Given the description of an element on the screen output the (x, y) to click on. 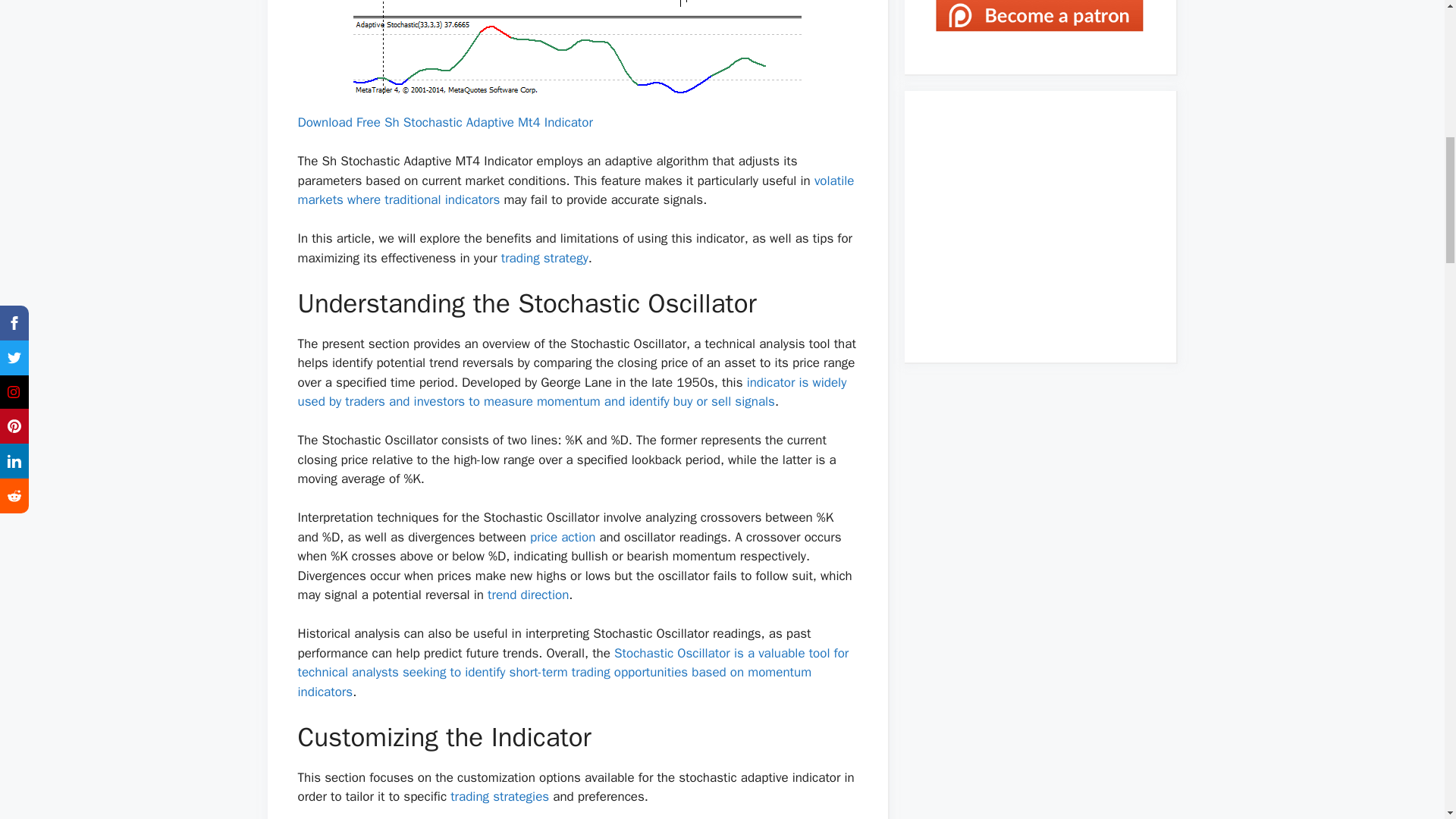
price action (562, 537)
Download Free Sh Stochastic Adaptive Mt4 Indicator (444, 122)
volatile markets where traditional indicators (575, 190)
trend direction (528, 594)
trading strategy (544, 258)
trading strategies (498, 796)
